Given the description of an element on the screen output the (x, y) to click on. 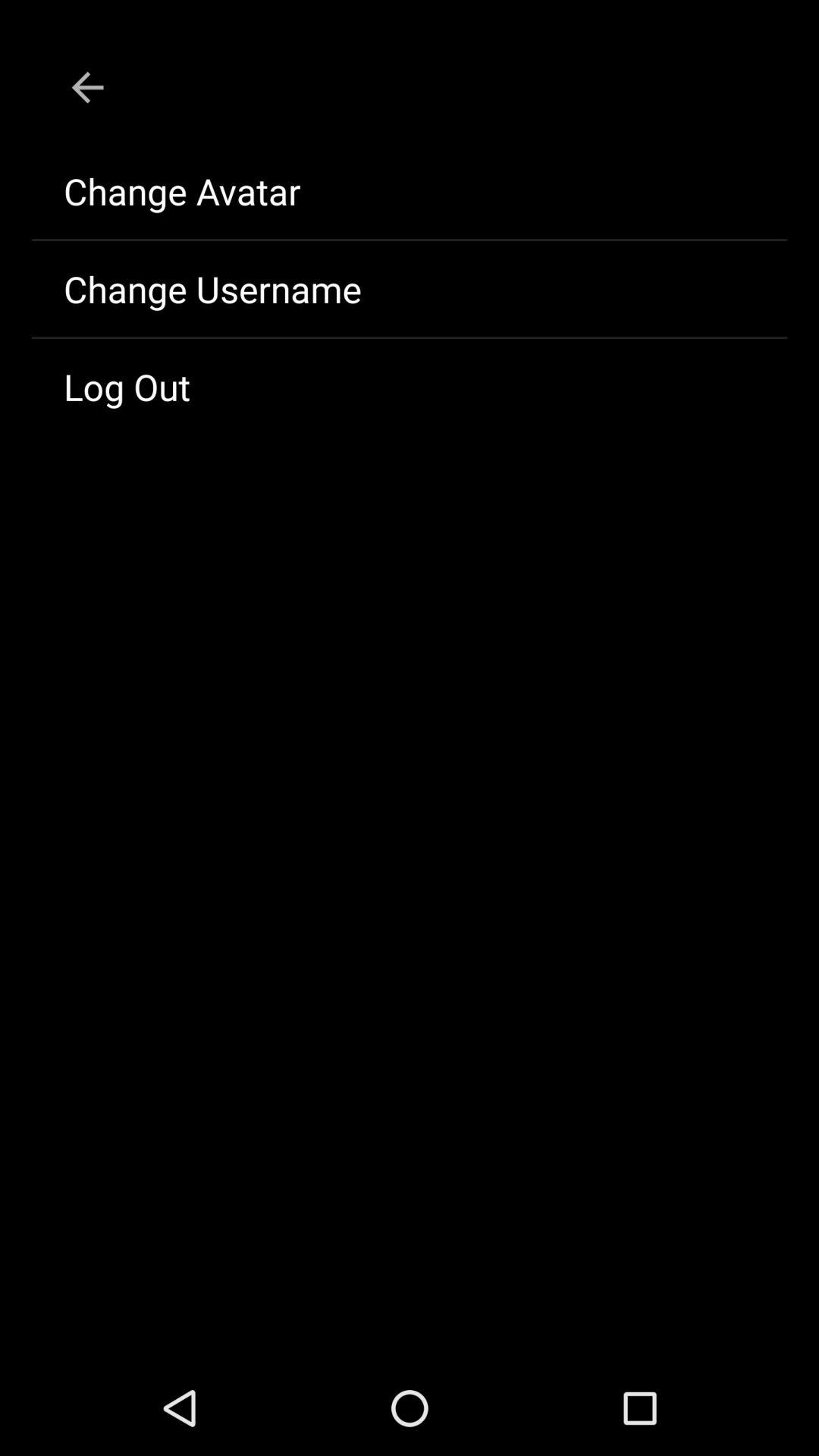
turn off item above the change avatar (87, 87)
